Given the description of an element on the screen output the (x, y) to click on. 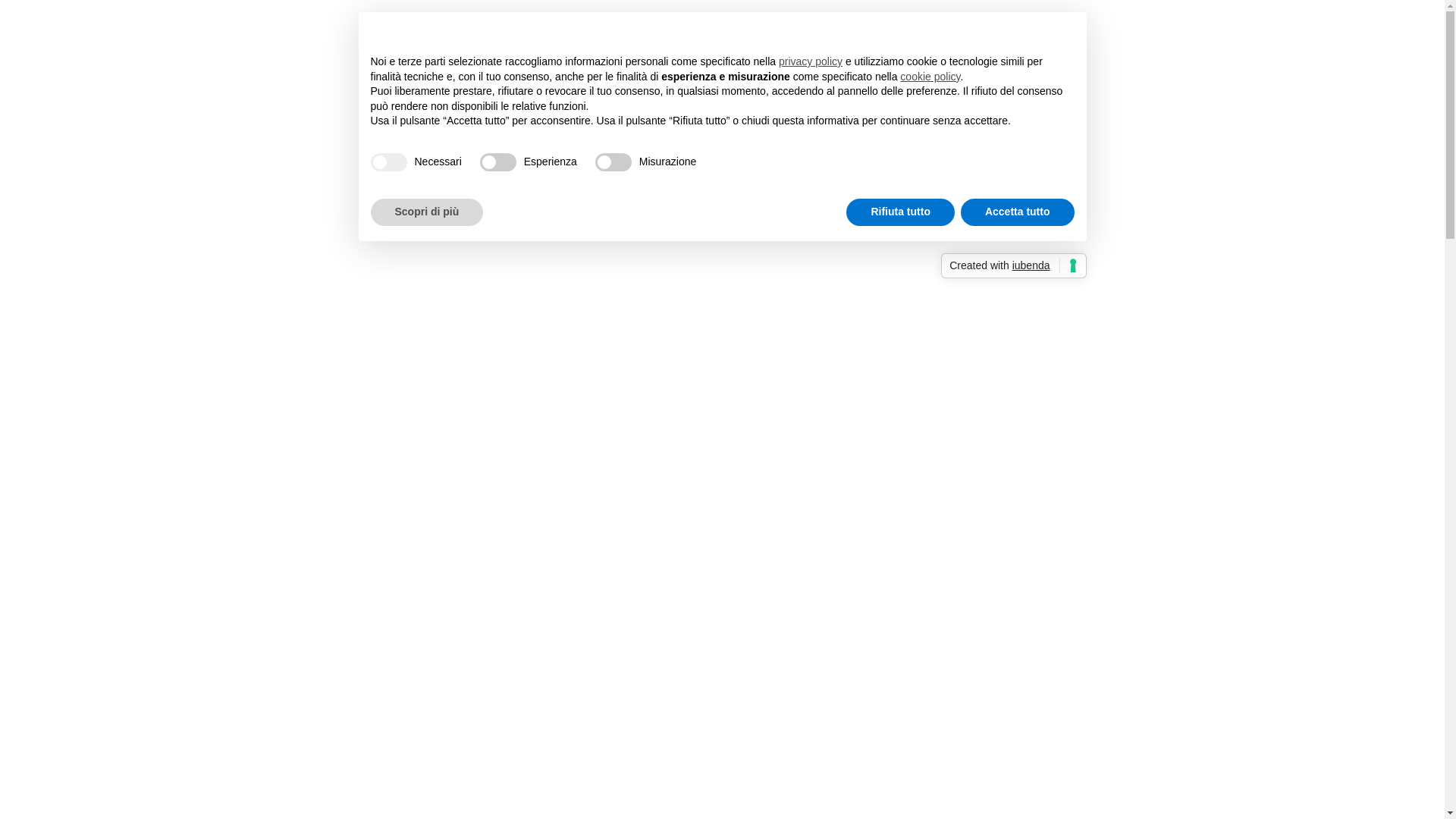
true (387, 162)
false (613, 162)
false (498, 162)
